Given the description of an element on the screen output the (x, y) to click on. 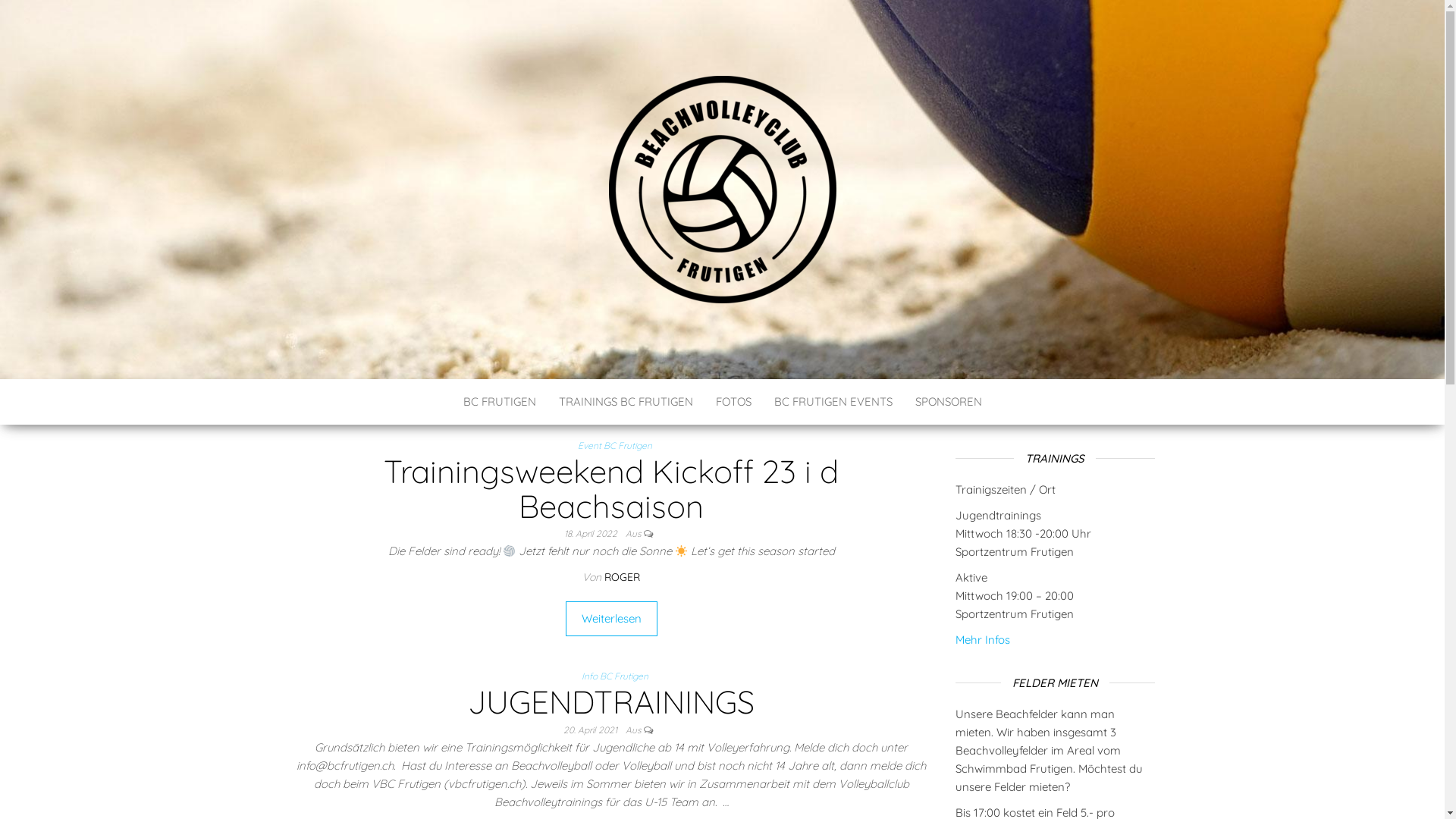
Info BC Frutigen Element type: text (617, 675)
TRAININGS BC FRUTIGEN Element type: text (625, 401)
JUGENDTRAININGS Element type: text (610, 701)
BC FRUTIGEN Element type: text (499, 401)
Trainingsweekend Kickoff 23 i d Beachsaison Element type: text (610, 488)
Event BC Frutigen Element type: text (617, 445)
FOTOS Element type: text (732, 401)
ROGER Element type: text (622, 576)
Mehr Infos Element type: text (982, 639)
Weiterlesen Element type: text (611, 618)
BC FRUTIGEN EVENTS Element type: text (832, 401)
BC FRUTIGEN Element type: text (430, 329)
SPONSOREN Element type: text (948, 401)
